Given the description of an element on the screen output the (x, y) to click on. 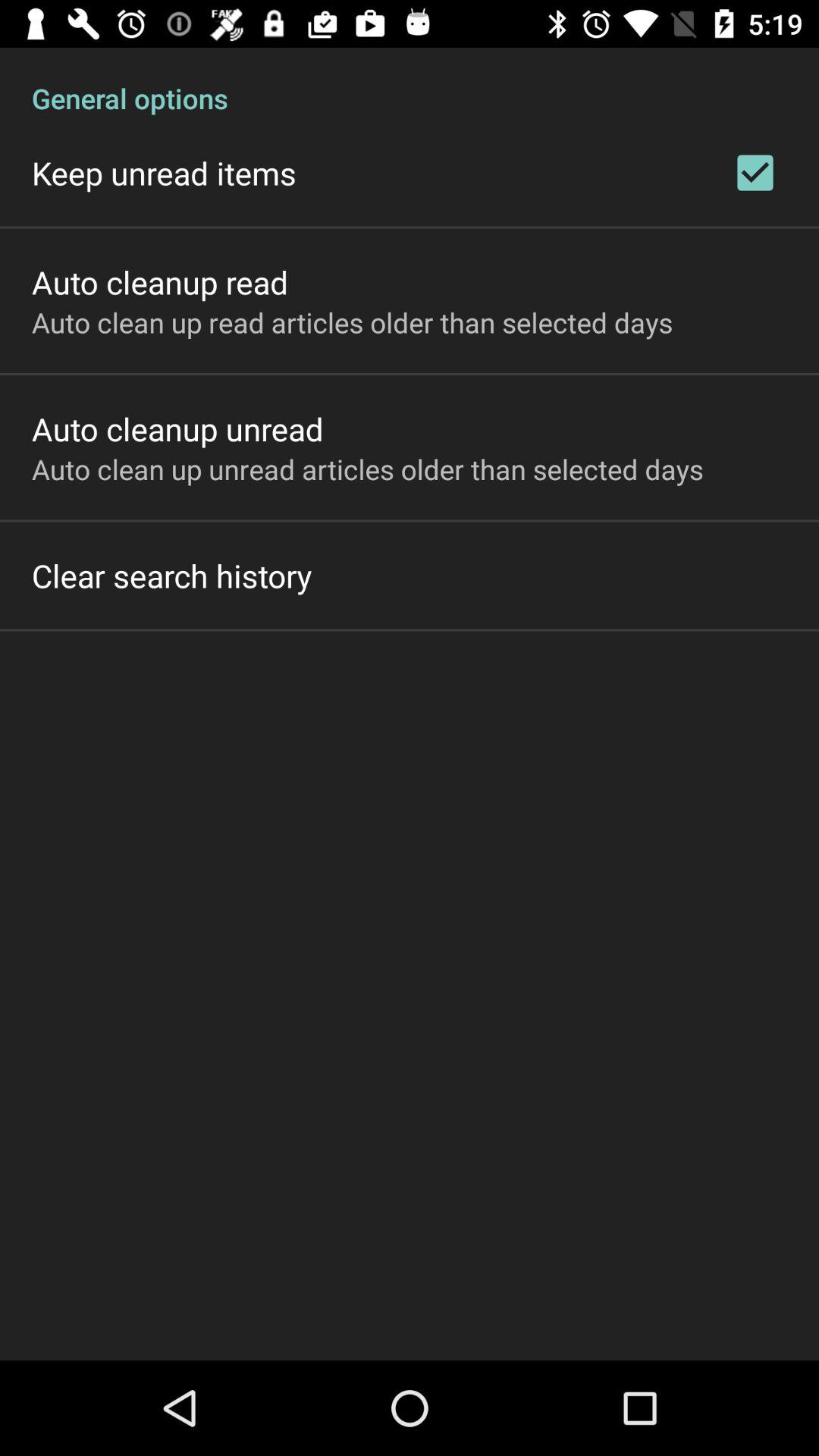
turn on the item to the right of the keep unread items item (755, 172)
